Given the description of an element on the screen output the (x, y) to click on. 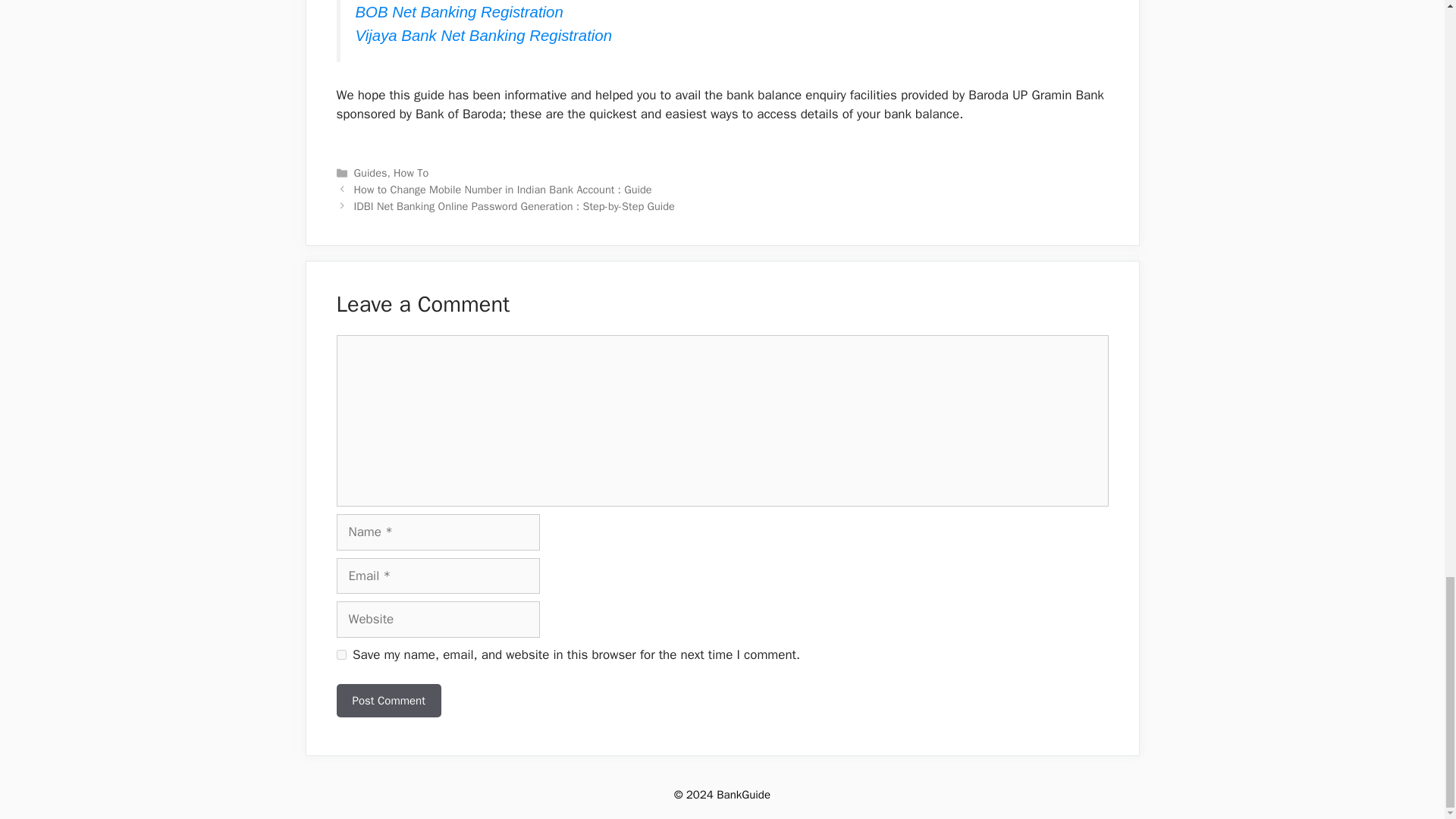
BOB Net Banking Registration (458, 12)
Guides (370, 172)
How To (410, 172)
Vijaya Bank Net Banking Registration (483, 35)
How to Change Mobile Number in Indian Bank Account : Guide (502, 189)
Post Comment (388, 700)
yes (341, 655)
Post Comment (388, 700)
